Given the description of an element on the screen output the (x, y) to click on. 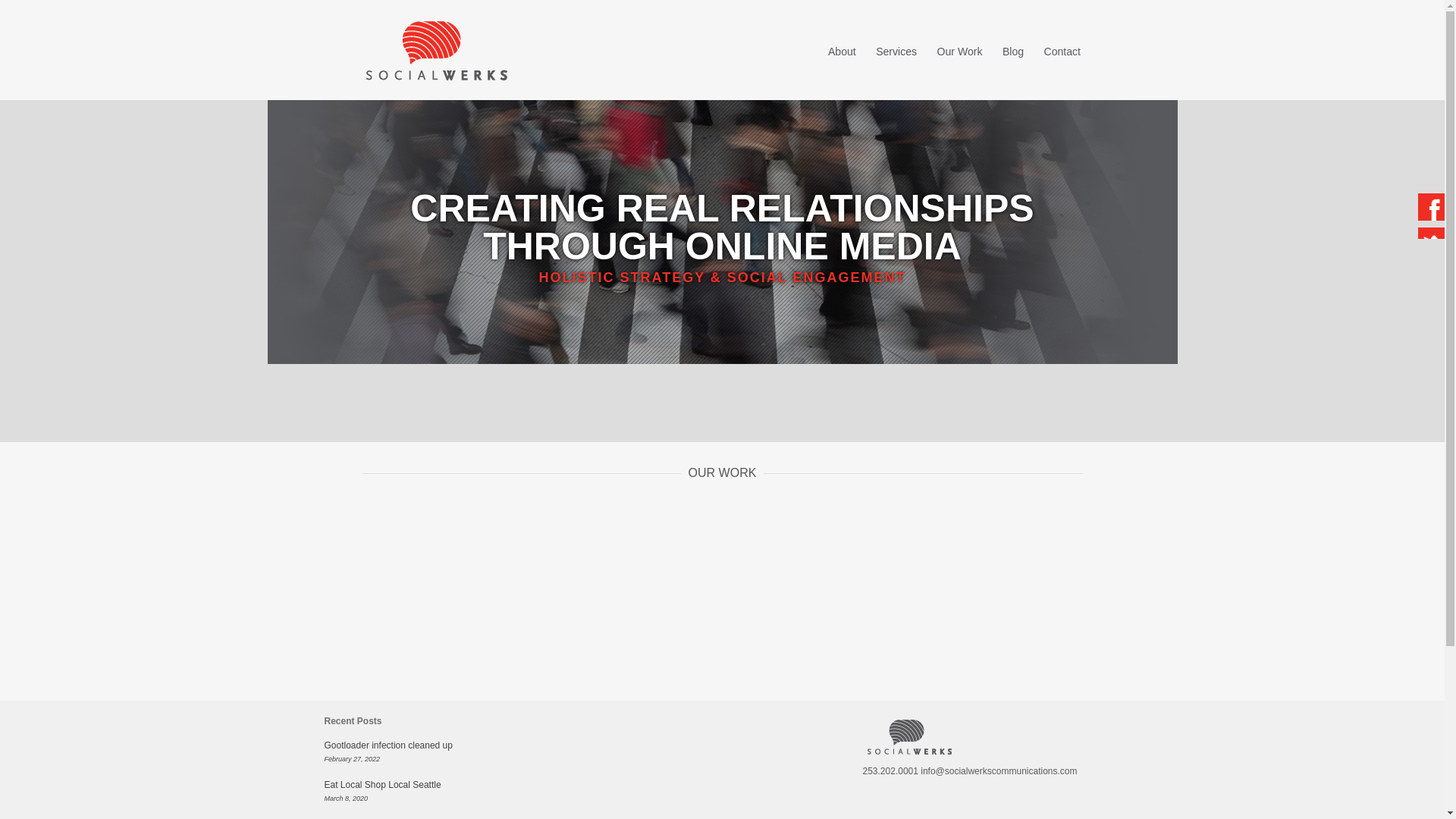
Blog (1013, 51)
Eat Local Shop Local Seattle (382, 784)
About (842, 51)
Services (896, 51)
Our Work (959, 51)
Eat Local Shop Local Seattle (382, 784)
Gootloader infection cleaned up (388, 745)
Contact (1061, 51)
Gootloader infection cleaned up (388, 745)
